Given the description of an element on the screen output the (x, y) to click on. 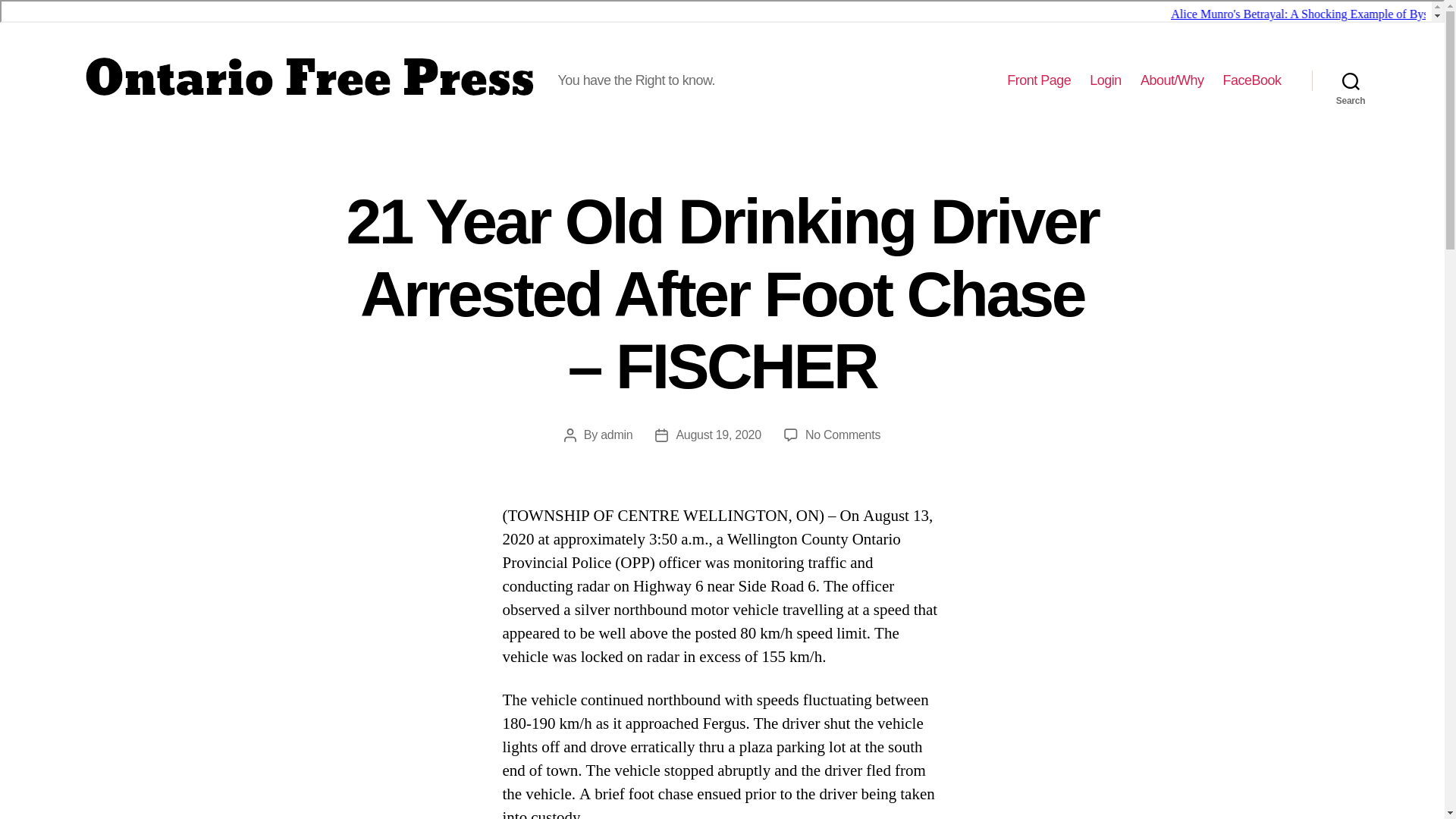
FaceBook (1252, 80)
Search (1350, 80)
admin (615, 434)
August 19, 2020 (718, 434)
Login (1105, 80)
Front Page (1038, 80)
